Given the description of an element on the screen output the (x, y) to click on. 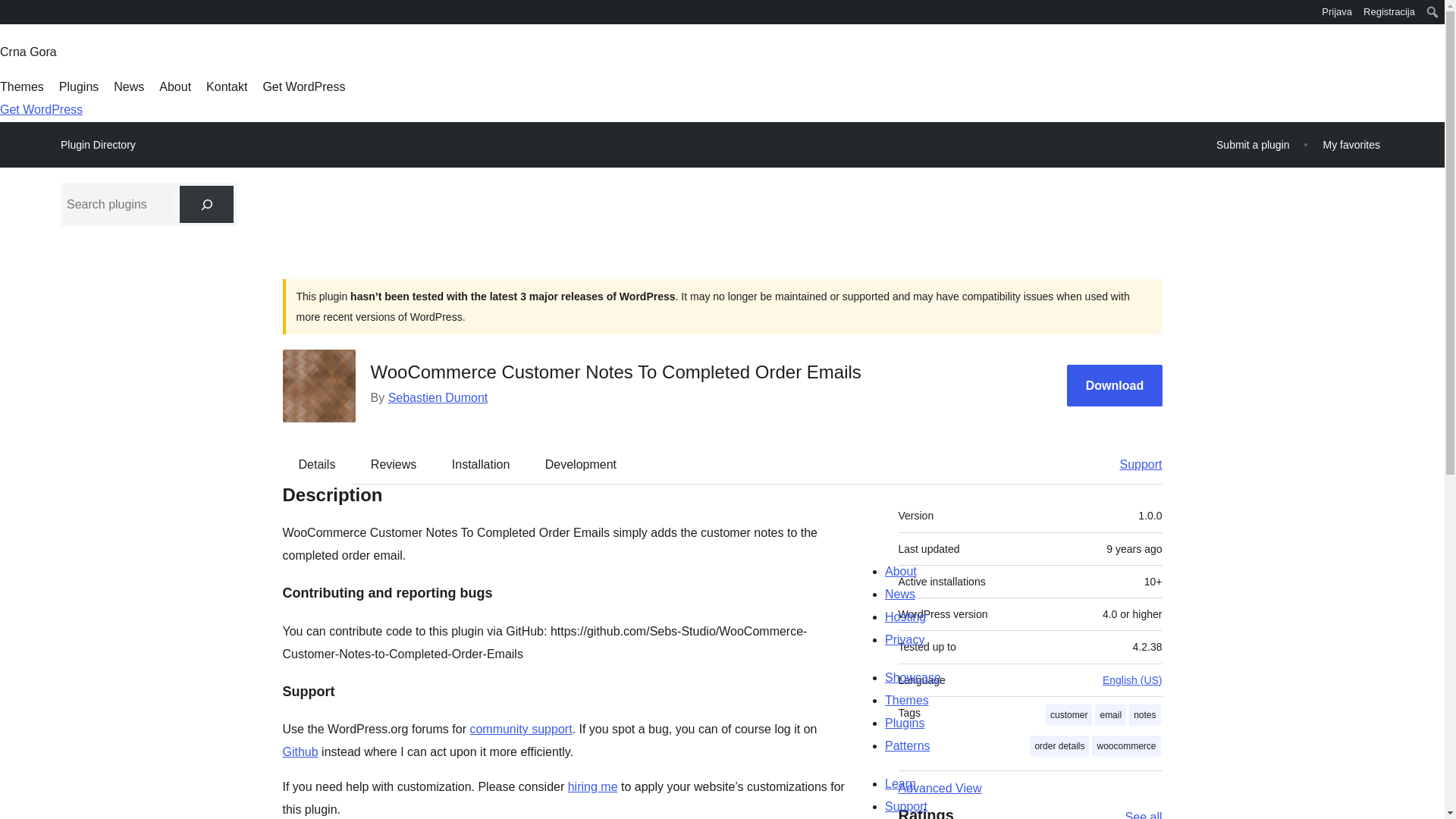
Plugins (79, 87)
My favorites (1351, 144)
Sebastien Dumont (437, 397)
Support (1132, 464)
Plugin Directory (97, 144)
Themes (21, 87)
Get WordPress (303, 87)
hiring me (592, 786)
Submit a plugin (1253, 144)
Kontakt (226, 87)
